Given the description of an element on the screen output the (x, y) to click on. 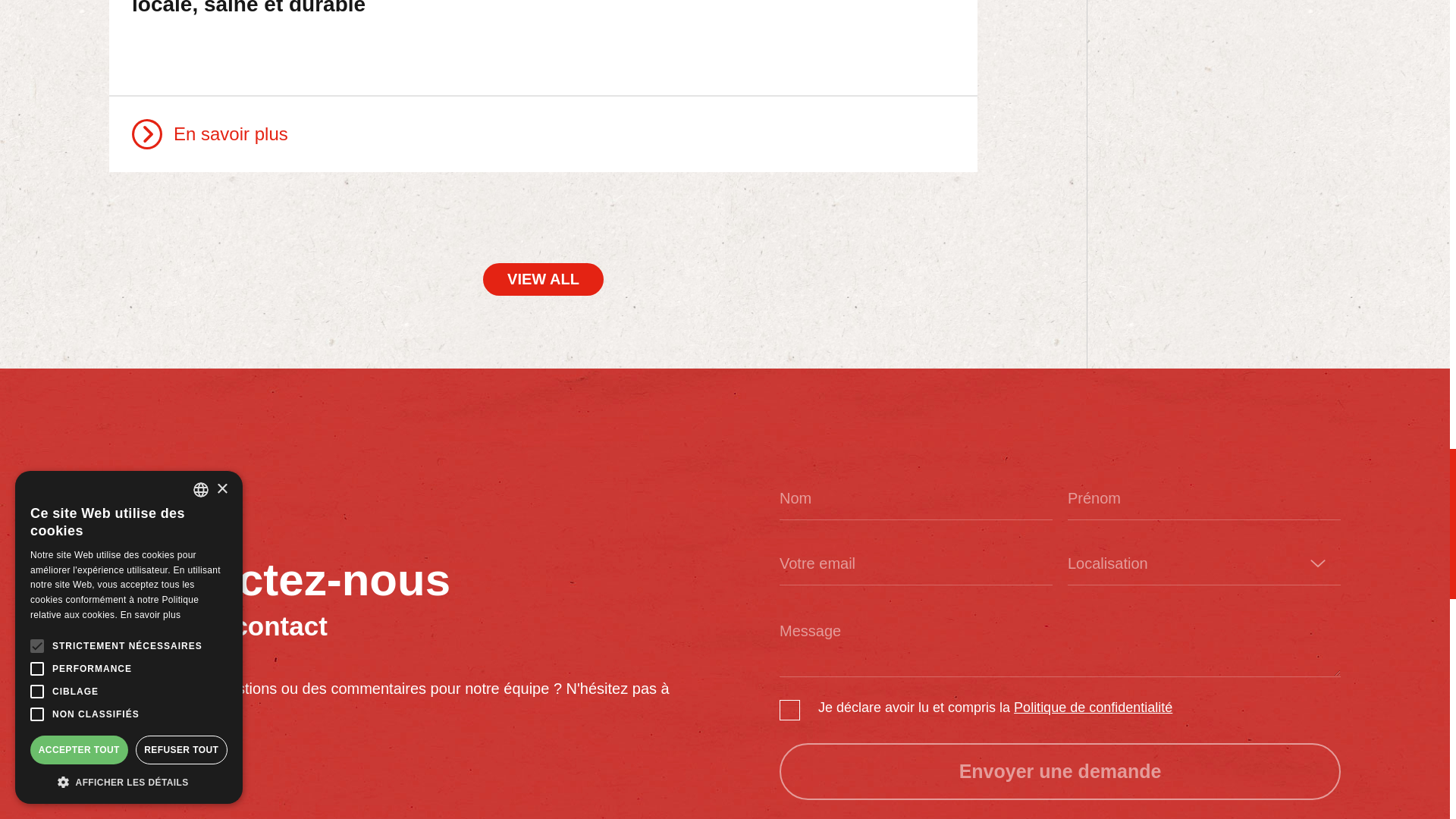
Accetto la Privacy Policy (1092, 708)
